Given the description of an element on the screen output the (x, y) to click on. 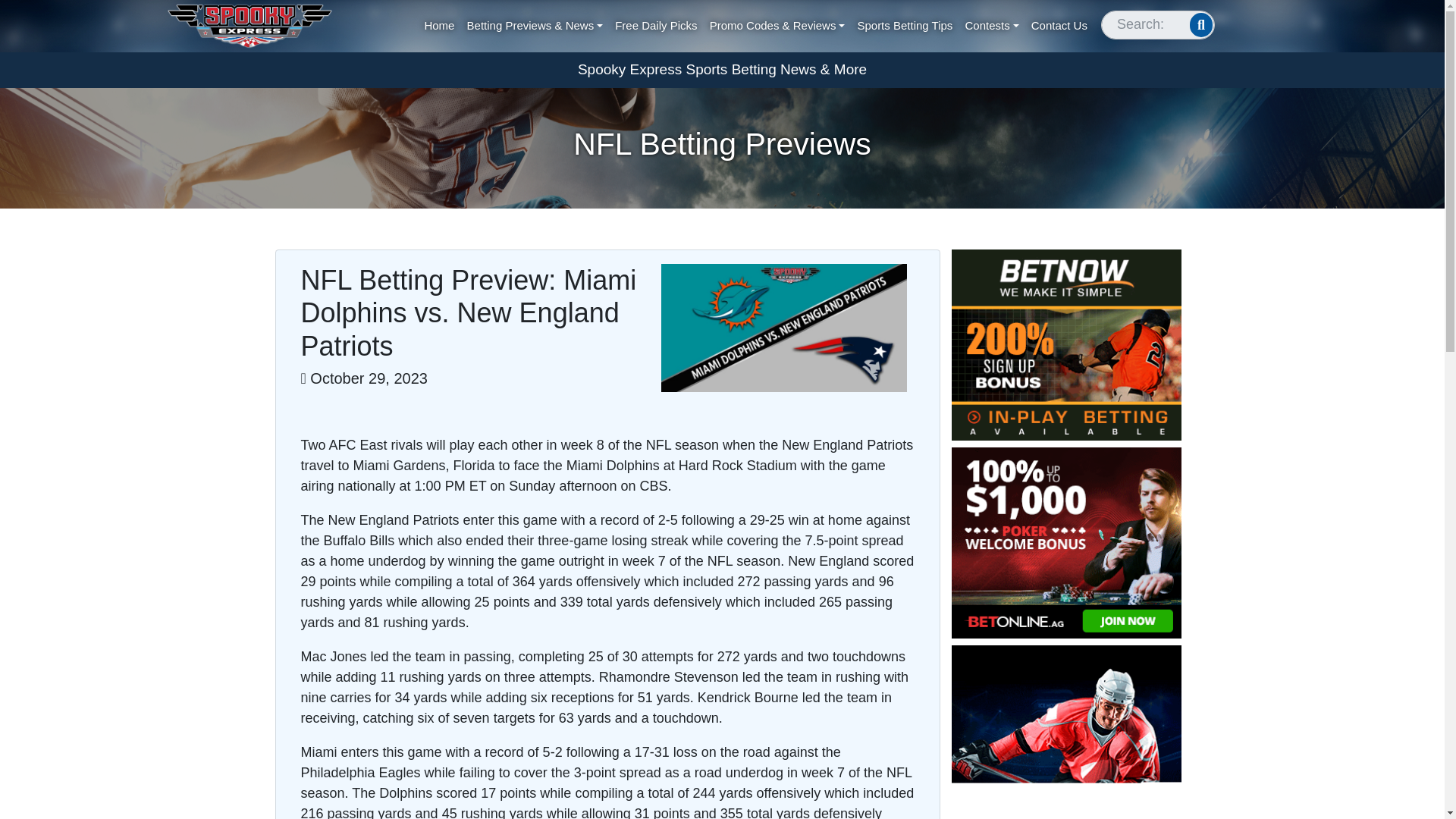
Spooky Express (250, 26)
Contests (992, 25)
Home (440, 25)
Sports Betting Tips (905, 25)
Free Daily Picks (657, 25)
Contact Us (1060, 25)
